Given the description of an element on the screen output the (x, y) to click on. 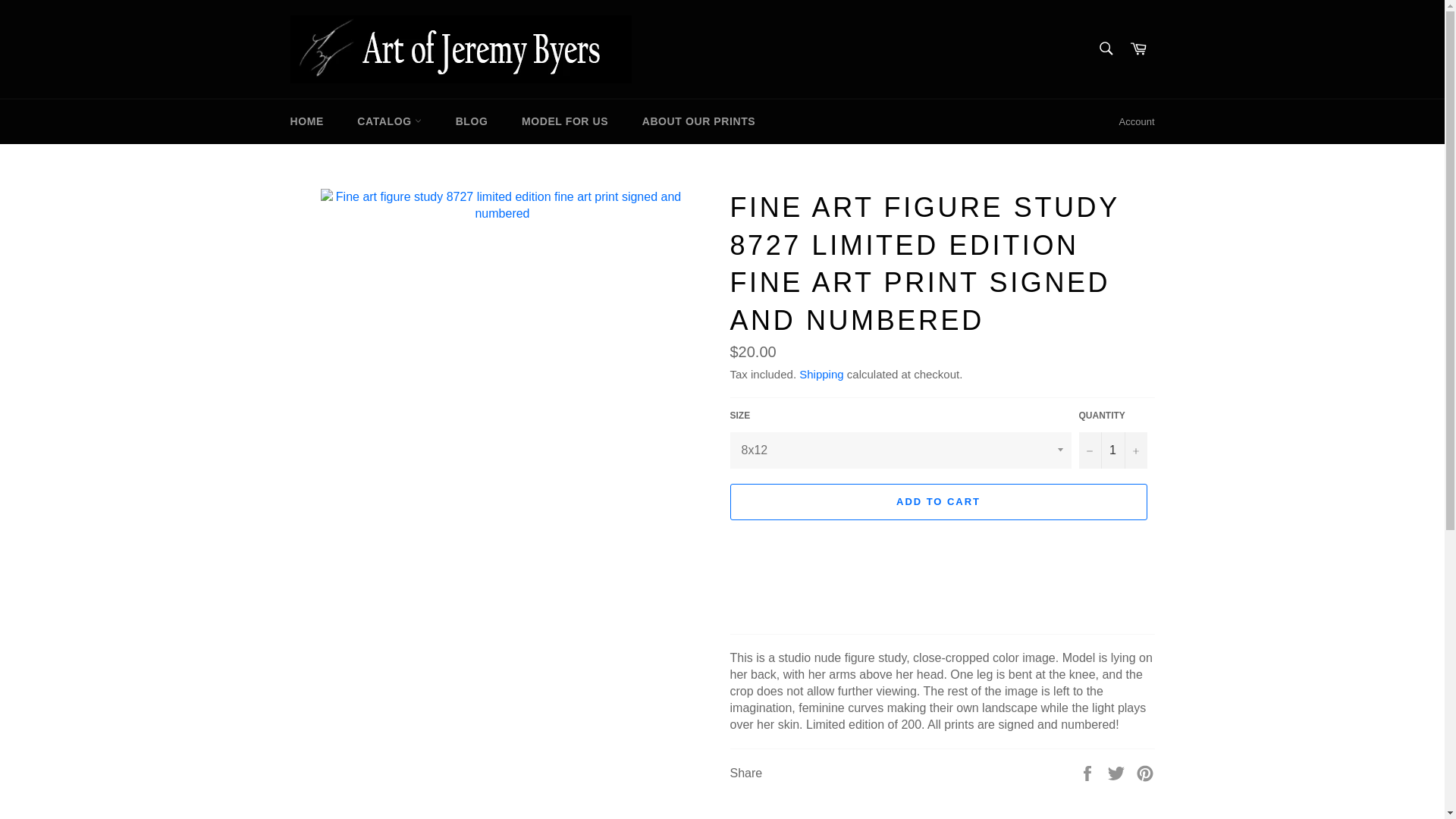
Tweet on Twitter (1117, 771)
BLOG (472, 121)
Search (1104, 47)
CATALOG (389, 121)
HOME (306, 121)
Pin on Pinterest (1144, 771)
Share on Facebook (1088, 771)
MODEL FOR US (564, 121)
1 (1112, 450)
Cart (1138, 48)
